Given the description of an element on the screen output the (x, y) to click on. 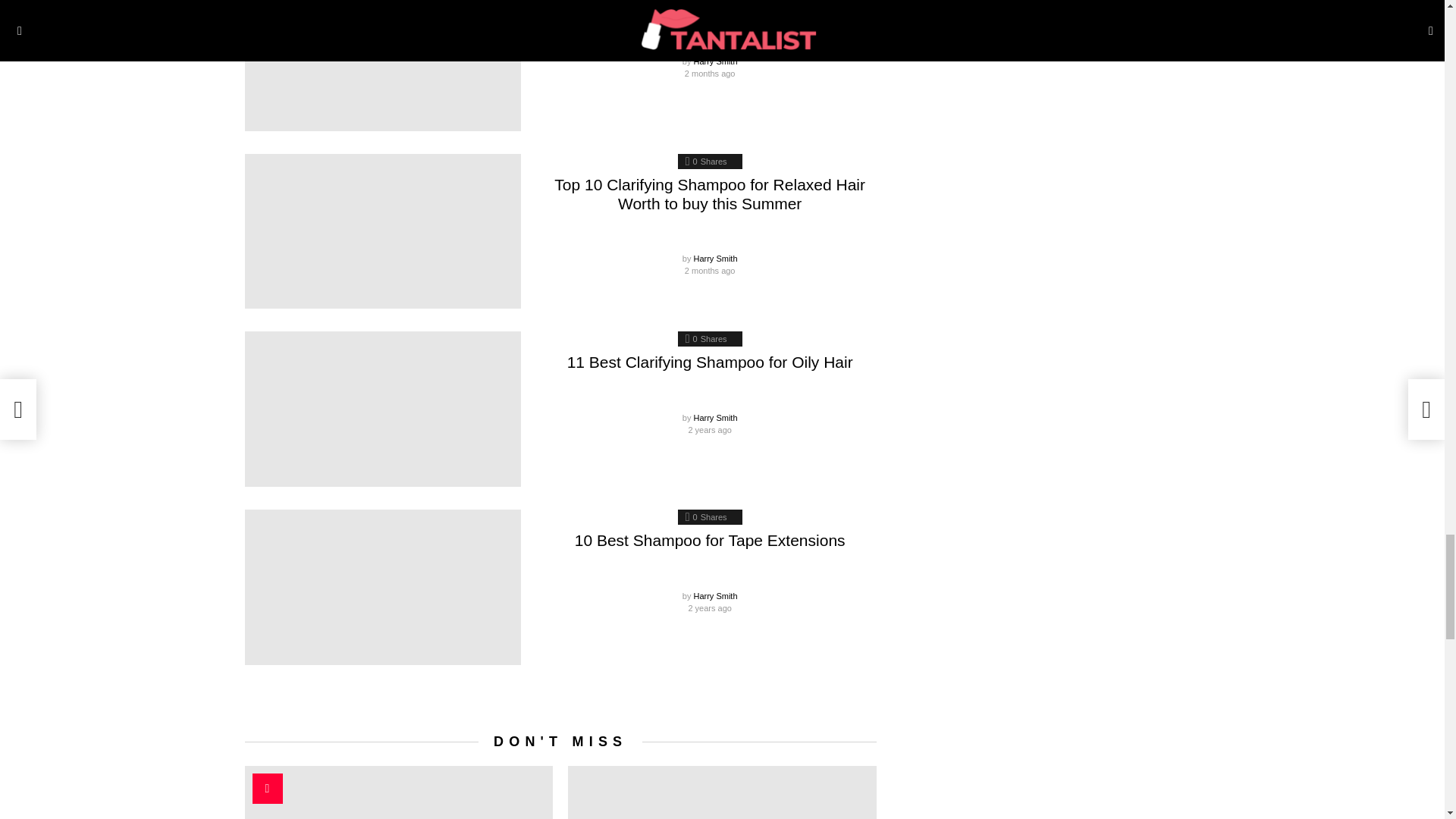
Posts by Harry Smith (714, 61)
July 3, 2024, 6:28 PM (709, 73)
How to Moisturize Relaxed Hair (381, 65)
